Given the description of an element on the screen output the (x, y) to click on. 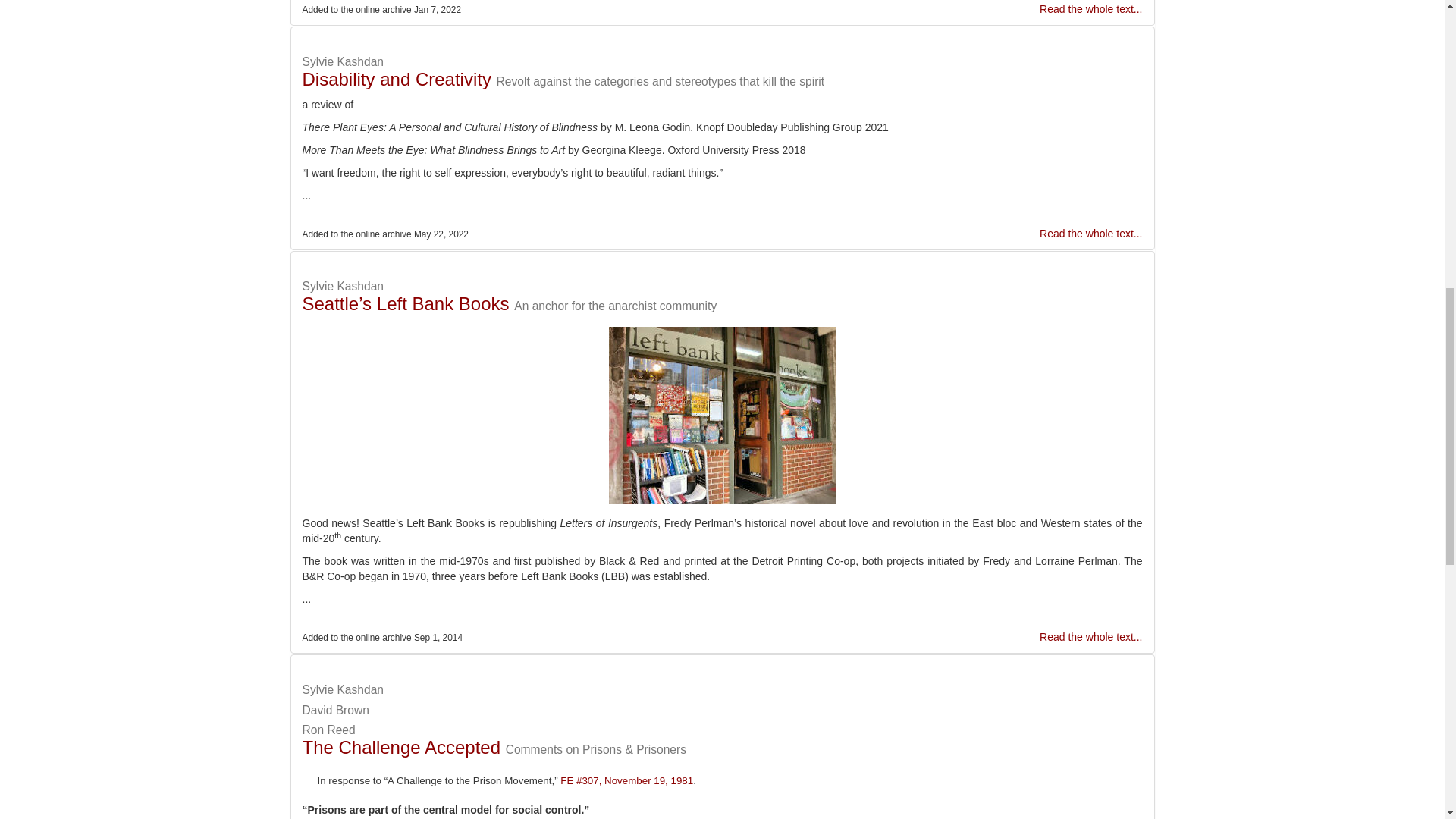
Disability and Creativity (395, 78)
The Challenge Accepted (400, 747)
Read the whole text... (1090, 9)
Read the whole text... (1090, 636)
Read the whole text... (1090, 233)
